Given the description of an element on the screen output the (x, y) to click on. 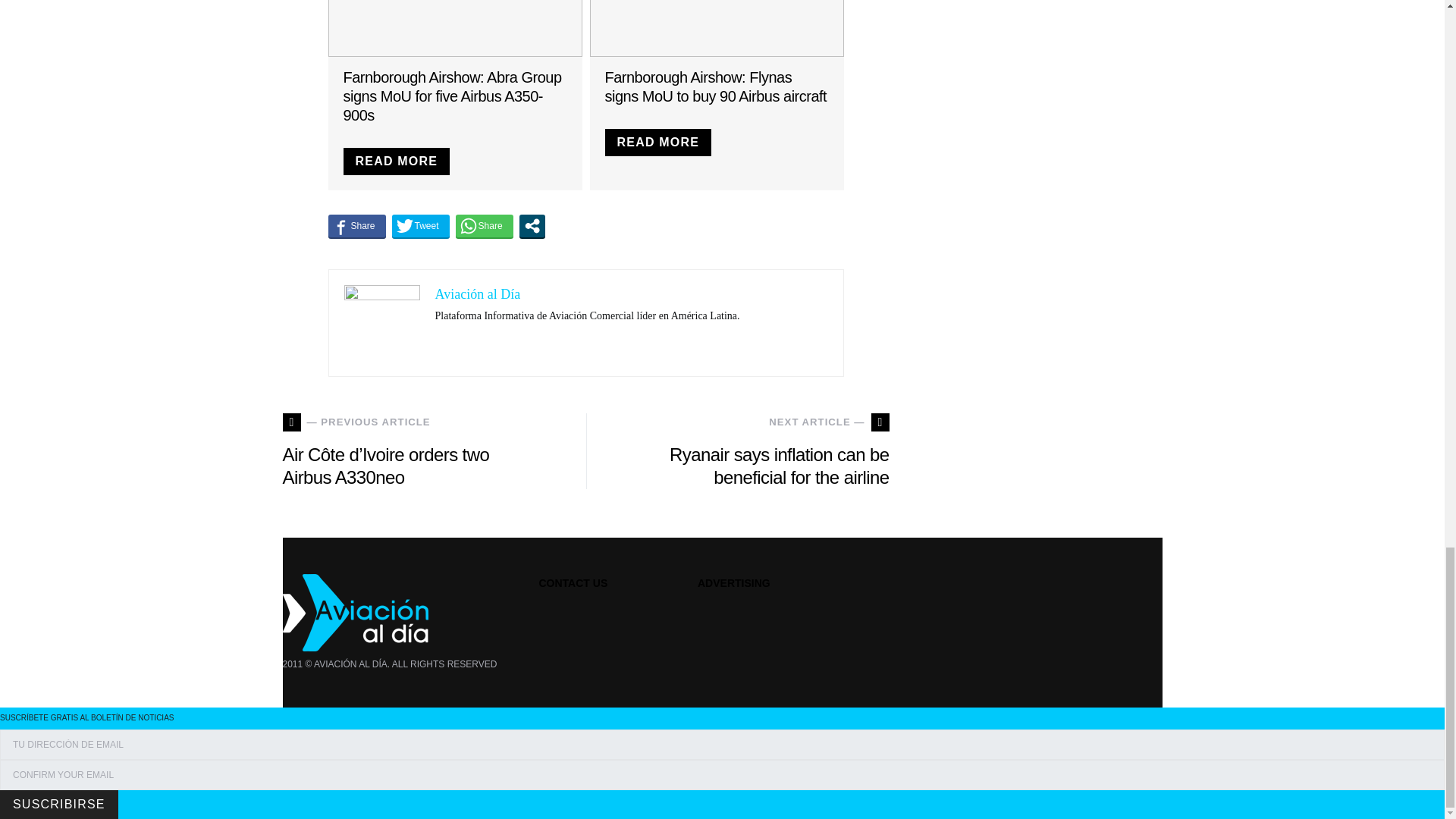
Tweet (420, 225)
Share on Facebook (356, 225)
Open modal social networks (531, 225)
Share on WhatsApp (484, 225)
